Given the description of an element on the screen output the (x, y) to click on. 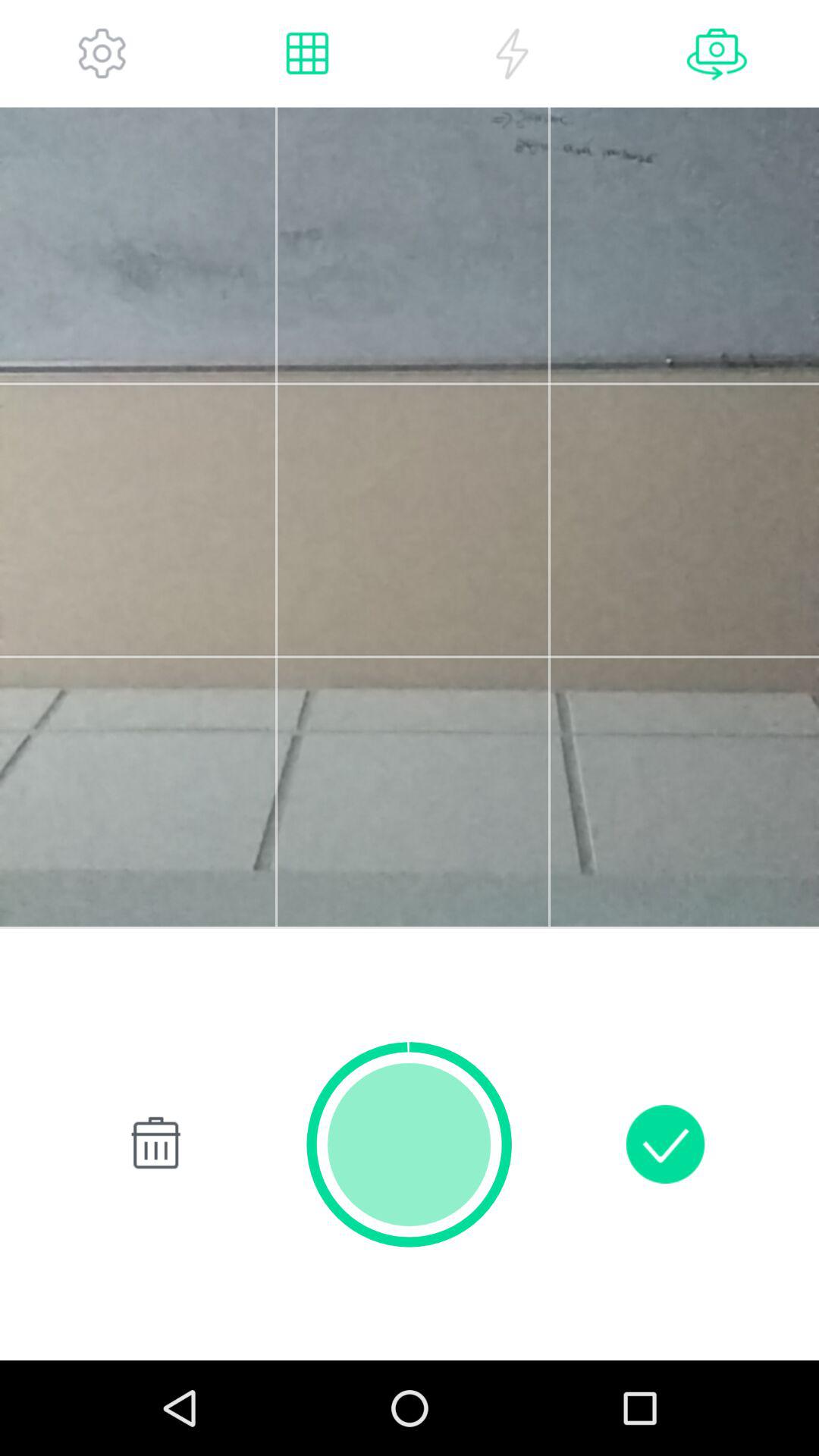
toggle flash option (511, 53)
